Given the description of an element on the screen output the (x, y) to click on. 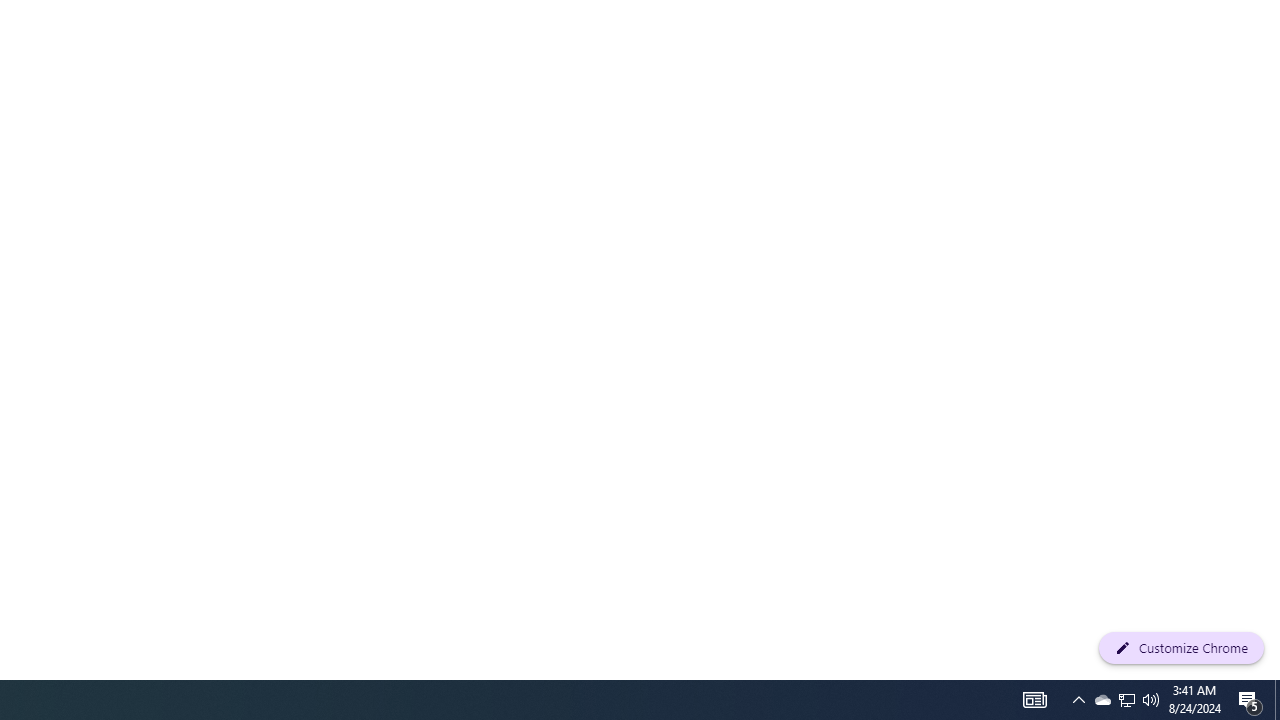
Customize Chrome (1181, 647)
